Given the description of an element on the screen output the (x, y) to click on. 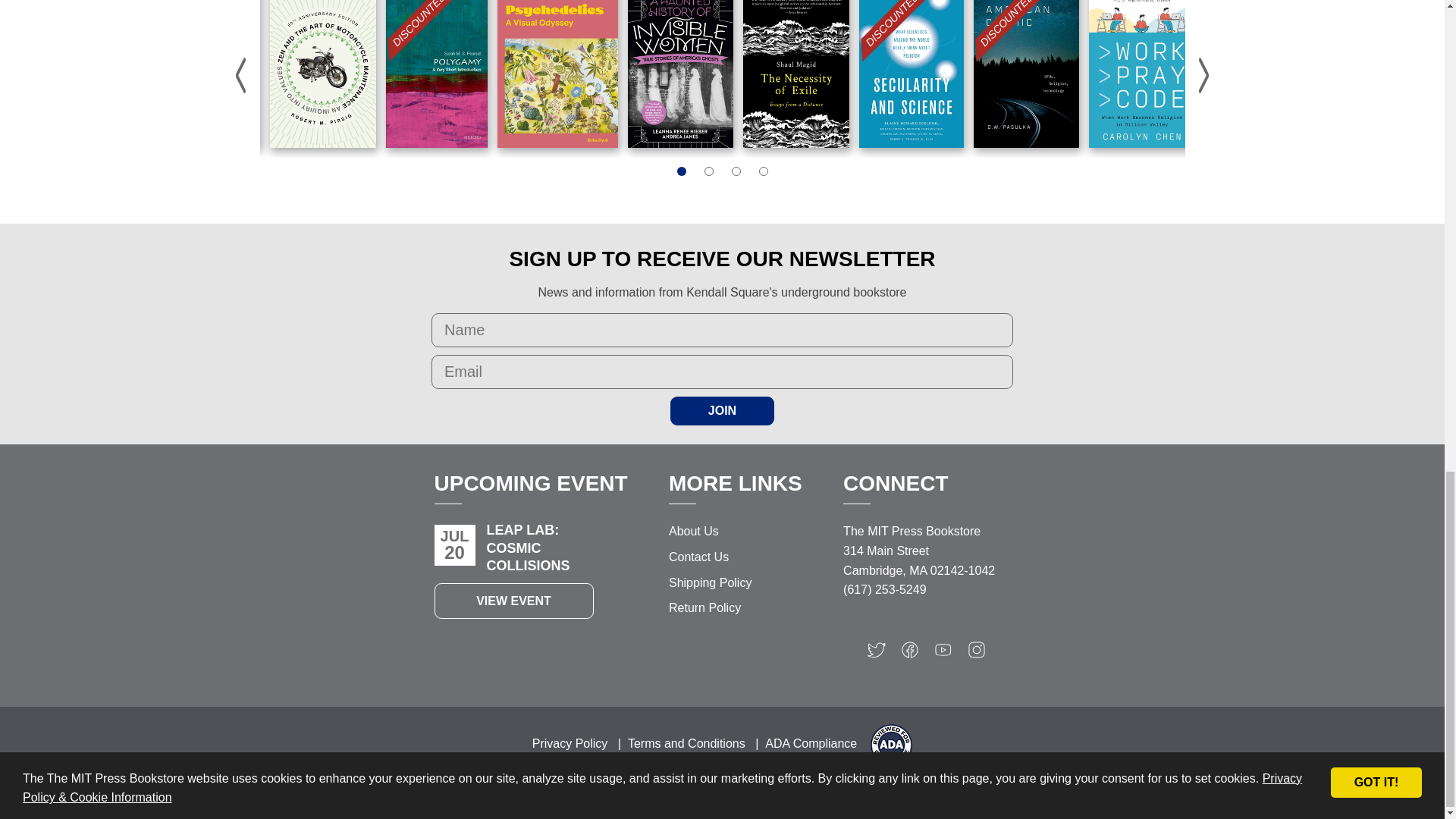
Join (721, 410)
